Given the description of an element on the screen output the (x, y) to click on. 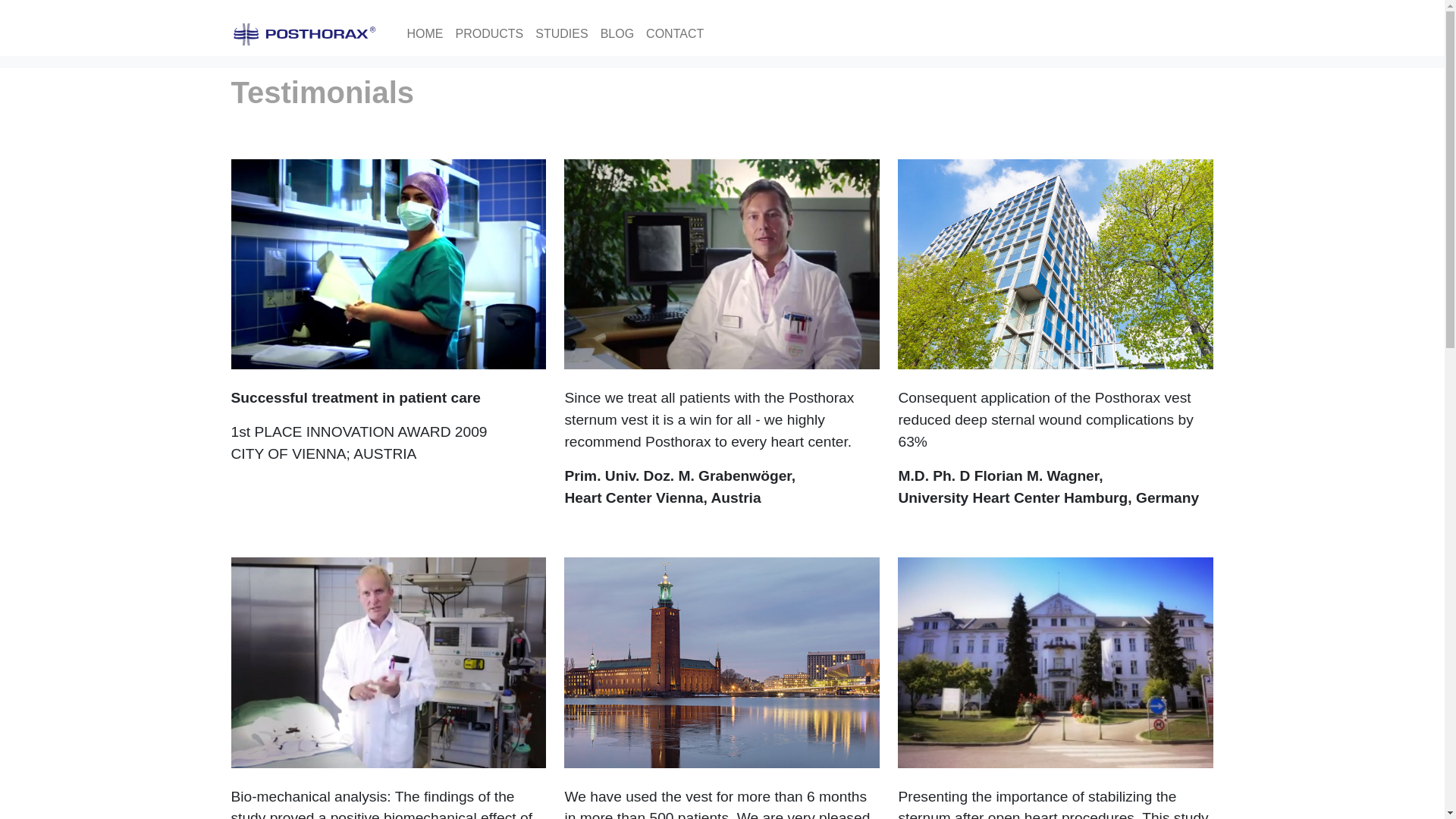
HOME (424, 33)
PRODUCTS (488, 33)
STUDIES (561, 33)
CONTACT (675, 33)
BLOG (617, 33)
